Given the description of an element on the screen output the (x, y) to click on. 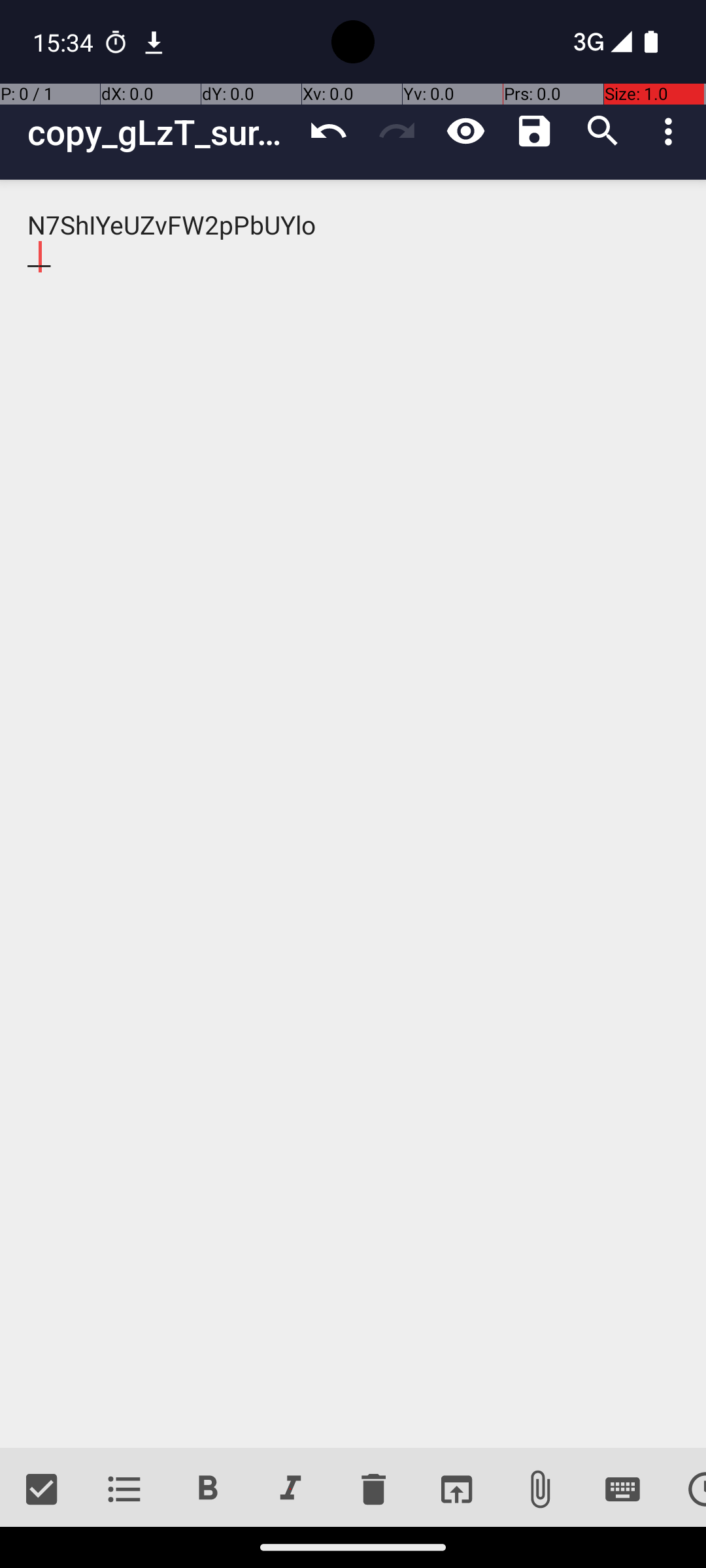
copy_gLzT_sure_nest Element type: android.widget.TextView (160, 131)
N7ShIYeUZvFW2pPbUYlo
__ Element type: android.widget.EditText (353, 813)
